Given the description of an element on the screen output the (x, y) to click on. 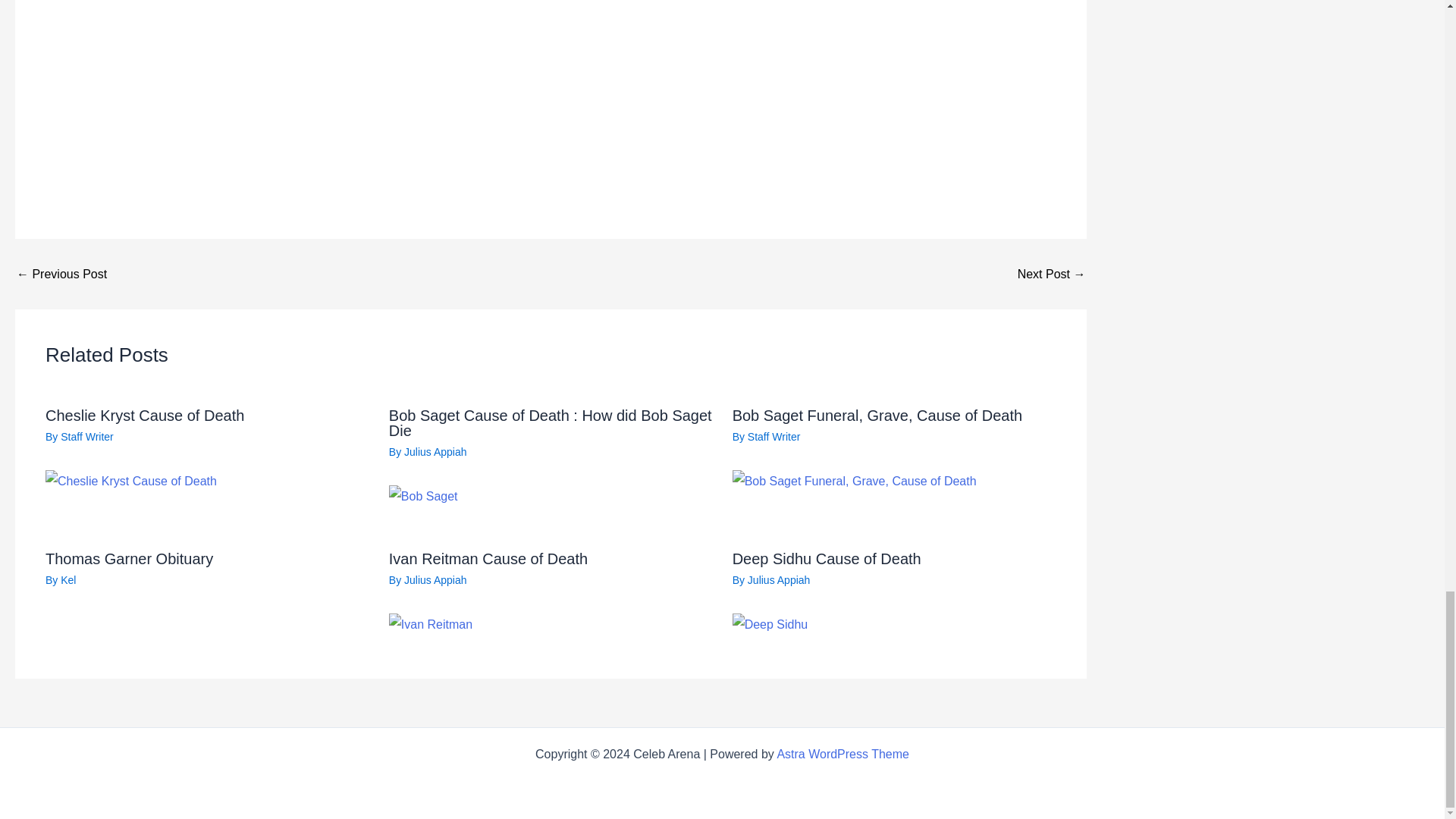
View all posts by Staff Writer (774, 436)
View all posts by Kel (68, 580)
View all posts by Julius Appiah (435, 451)
View all posts by Julius Appiah (435, 580)
Advertisement (550, 86)
View all posts by Julius Appiah (779, 580)
View all posts by Staff Writer (87, 436)
